Given the description of an element on the screen output the (x, y) to click on. 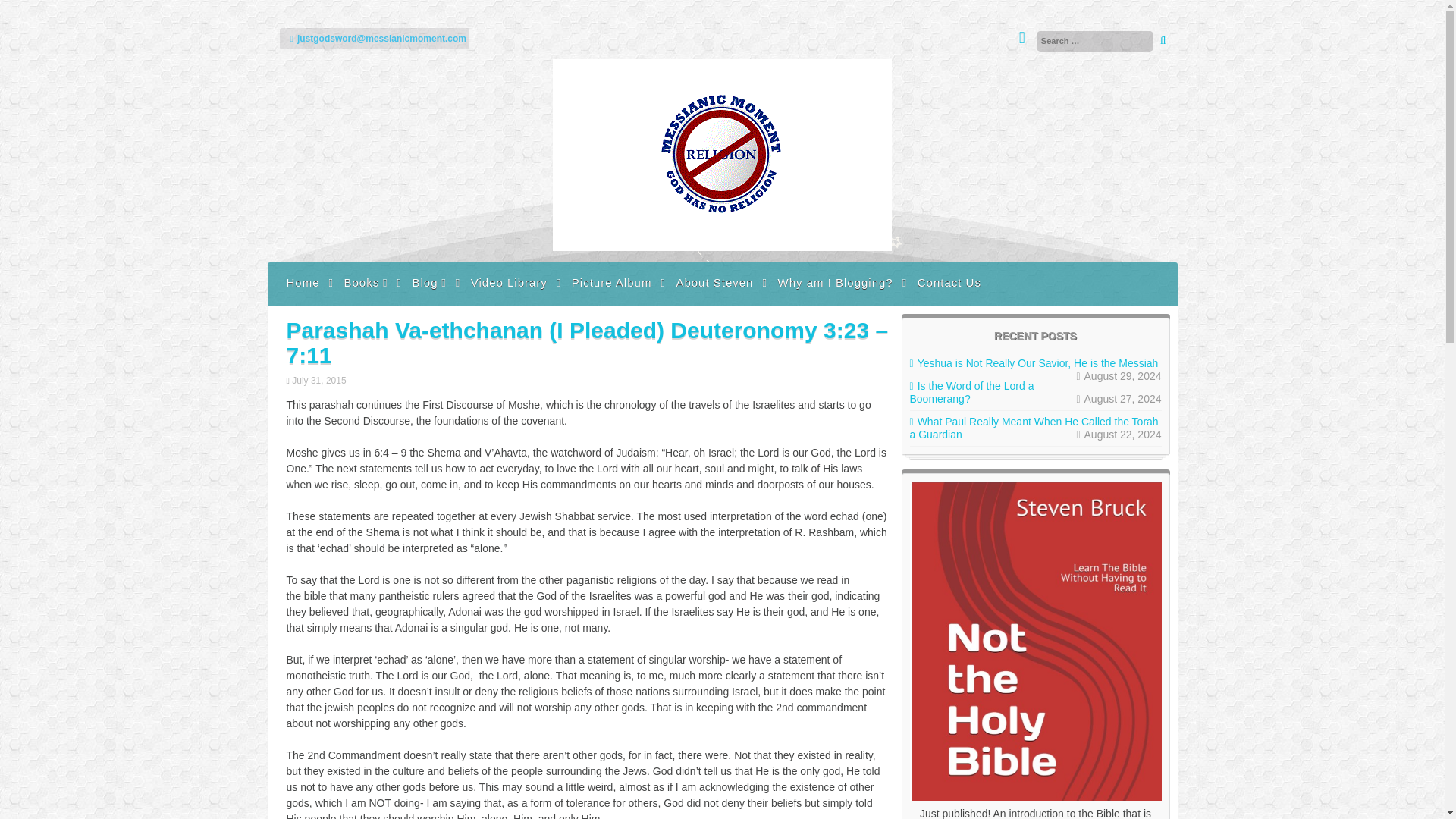
Messianic Moment (722, 246)
Blog (428, 282)
Video Library (509, 282)
Search (28, 12)
Books (366, 282)
Why am I Blogging? (834, 282)
Contact Us (949, 282)
About Steven (713, 282)
Picture Album (612, 282)
